Given the description of an element on the screen output the (x, y) to click on. 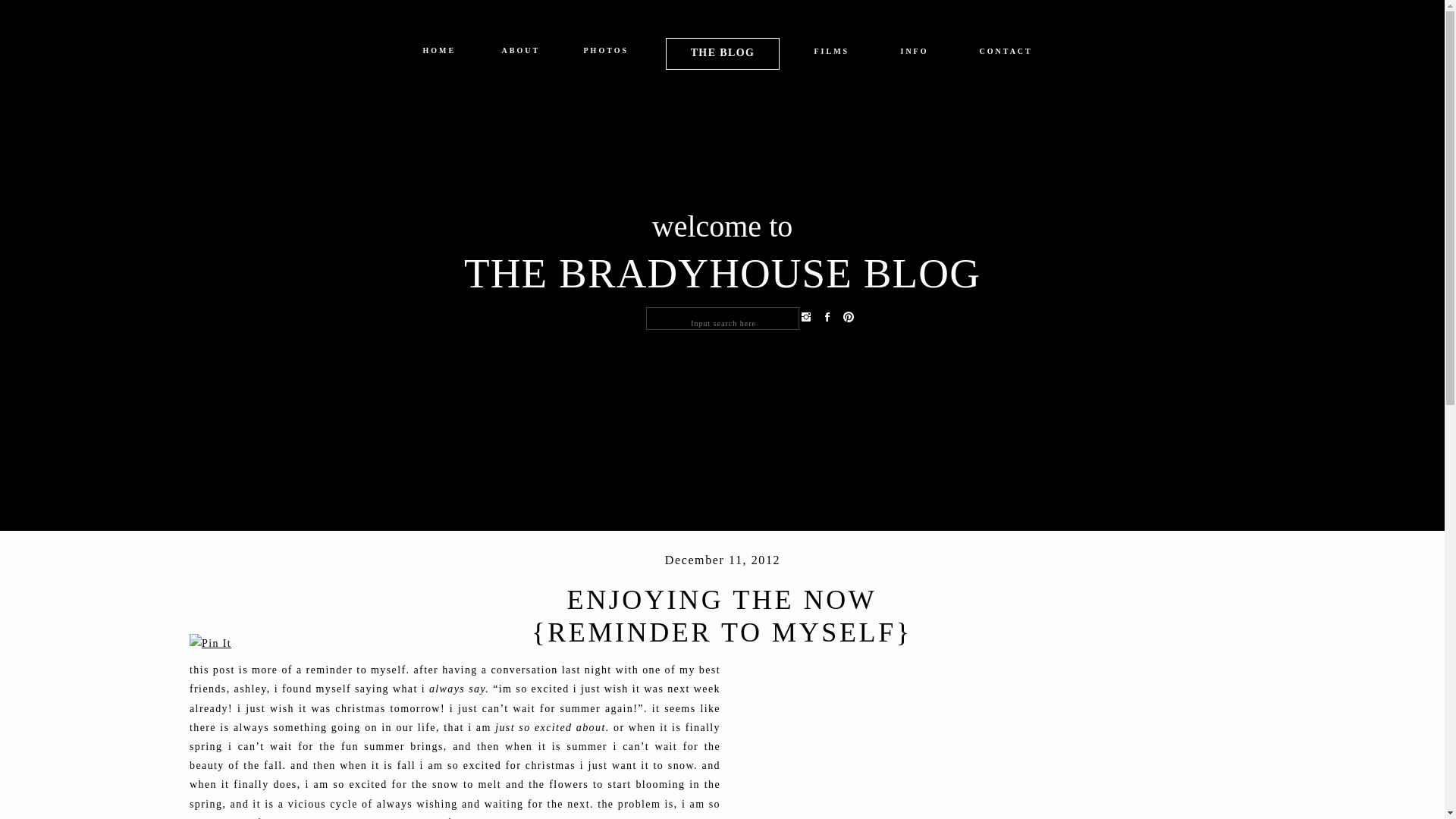
FILMS (831, 54)
HOME (439, 53)
CONTACT (1004, 54)
Pin It (210, 642)
THE BLOG (722, 51)
ABOUT (520, 53)
INFO (914, 54)
PHOTOS (605, 53)
